Given the description of an element on the screen output the (x, y) to click on. 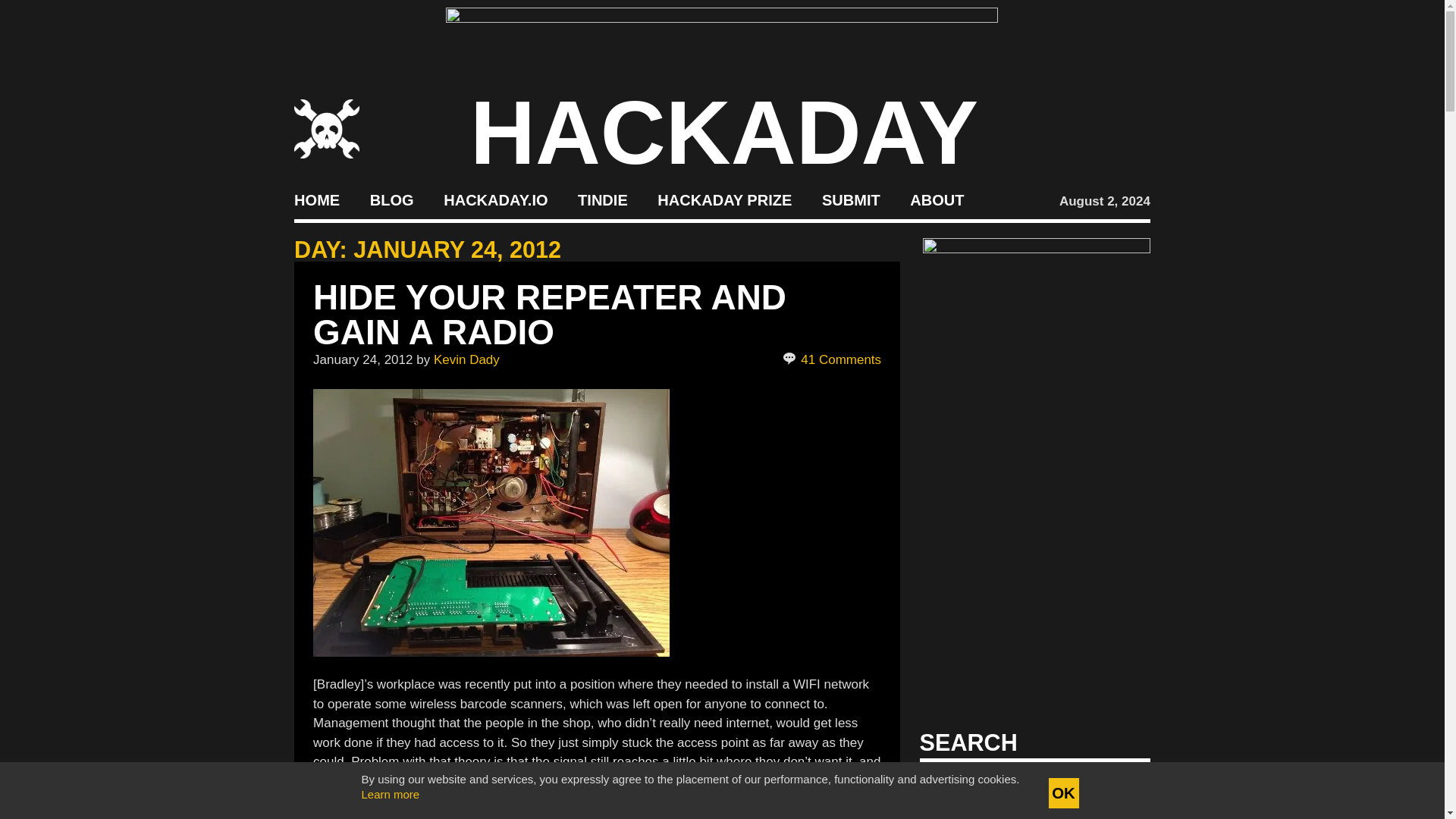
SUBMIT (851, 200)
BLOG (391, 200)
HACKADAY.IO (495, 200)
HOME (316, 200)
Search (1115, 787)
January 24, 2012 - 2:01 pm (362, 359)
Search (1115, 787)
HACKADAY PRIZE (725, 200)
ABOUT (936, 200)
HIDE YOUR REPEATER AND GAIN A RADIO (549, 314)
Build Something that Matters (725, 200)
HACKADAY (724, 131)
TINDIE (602, 200)
Untitled (491, 522)
Posts by Kevin Dady (466, 359)
